Given the description of an element on the screen output the (x, y) to click on. 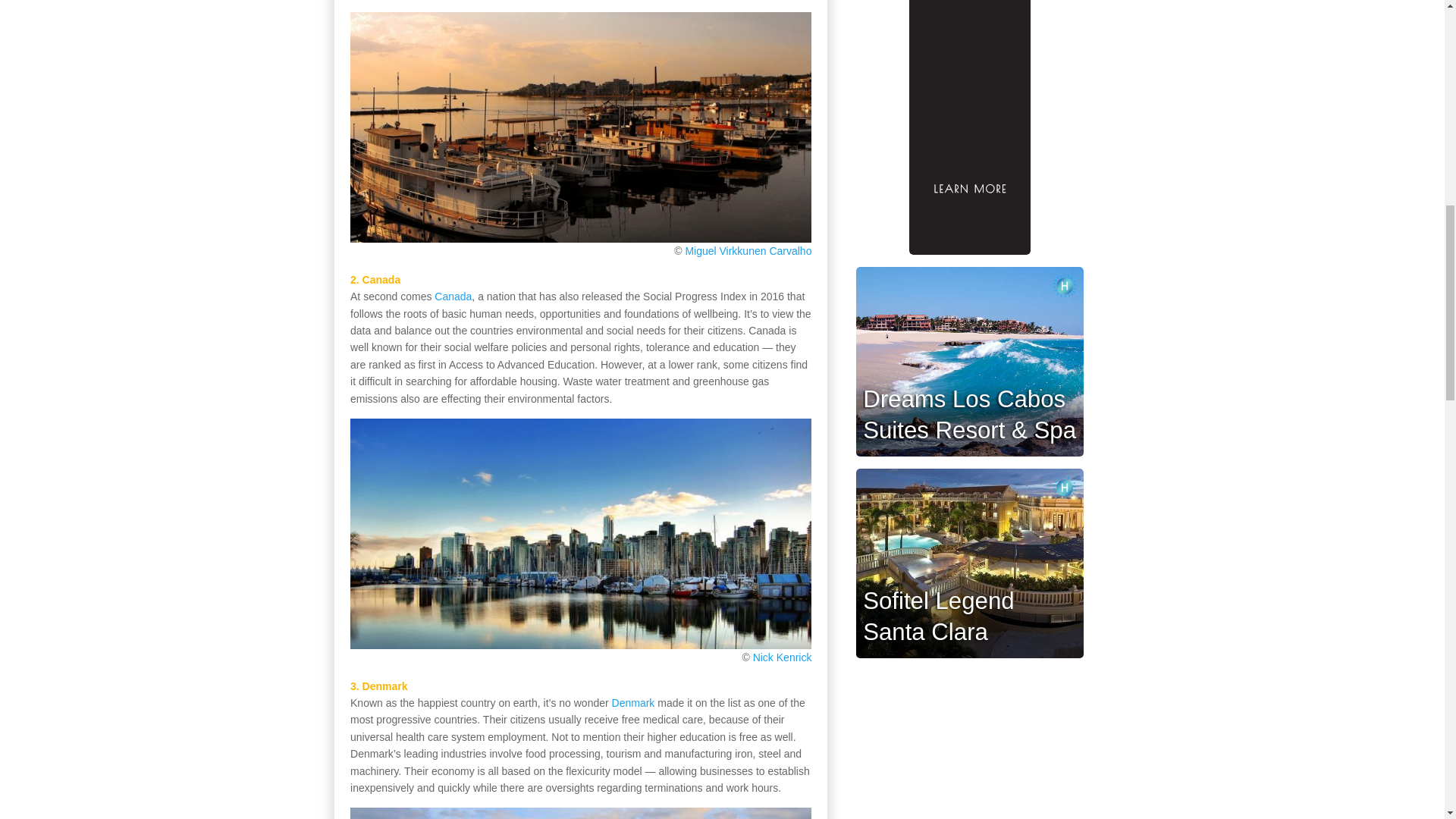
Sofitel Legend Santa Clara (938, 616)
2. Canada (375, 279)
Sofitel Legend Santa Clara (938, 616)
Miguel Virkkunen Carvalho (747, 250)
Denmark (633, 702)
3. Denmark (378, 686)
Canada (452, 296)
Nick Kenrick (782, 657)
